Given the description of an element on the screen output the (x, y) to click on. 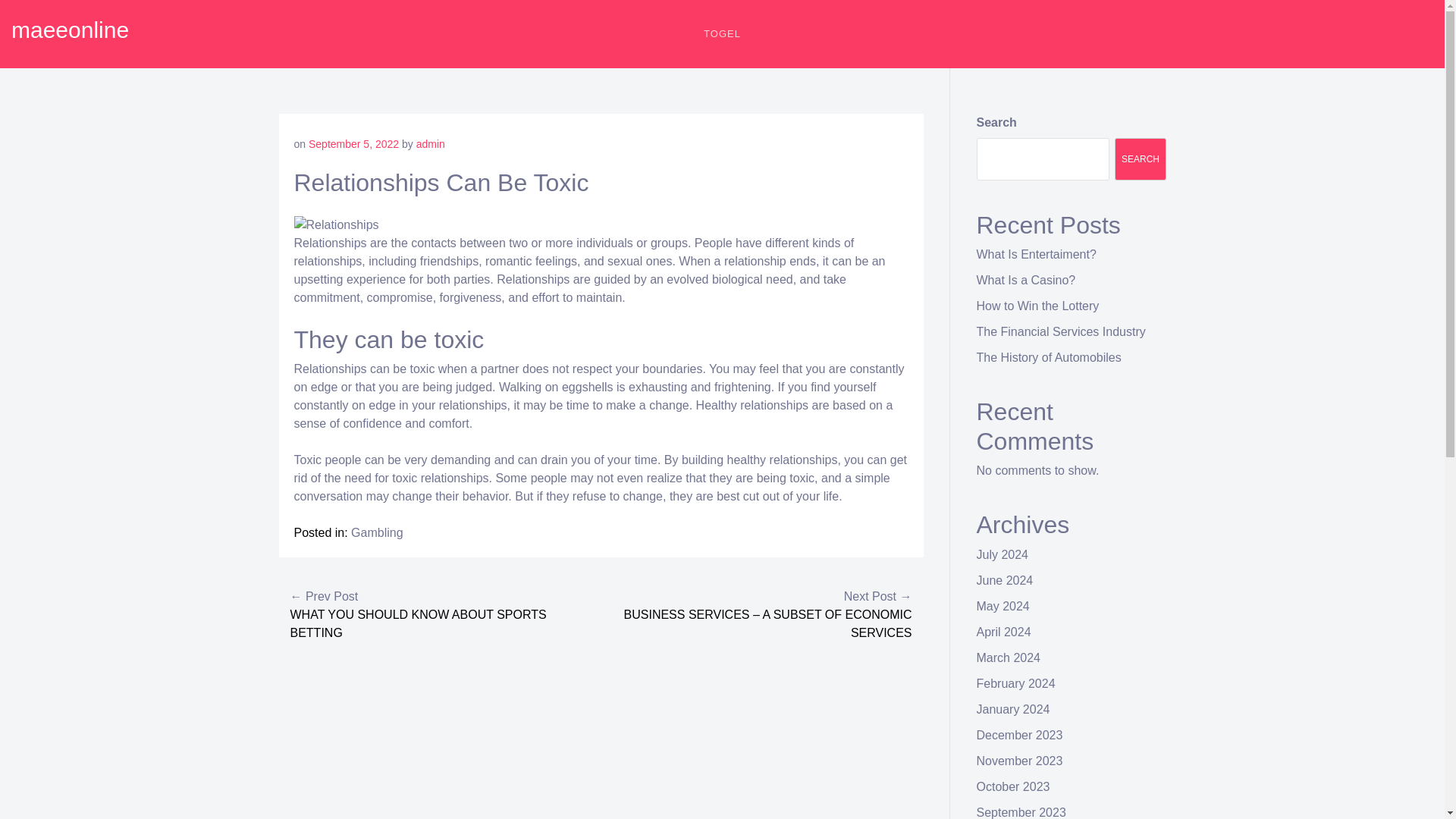
May 2024 (1002, 605)
The Financial Services Industry (1060, 331)
October 2023 (1012, 786)
December 2023 (1019, 735)
How to Win the Lottery (1037, 305)
What Is a Casino? (1025, 279)
September 2023 (1020, 812)
September 5, 2022 (353, 143)
SEARCH (1140, 159)
admin (430, 143)
April 2024 (1003, 631)
July 2024 (1002, 554)
March 2024 (1008, 657)
February 2024 (1015, 683)
June 2024 (1004, 580)
